Given the description of an element on the screen output the (x, y) to click on. 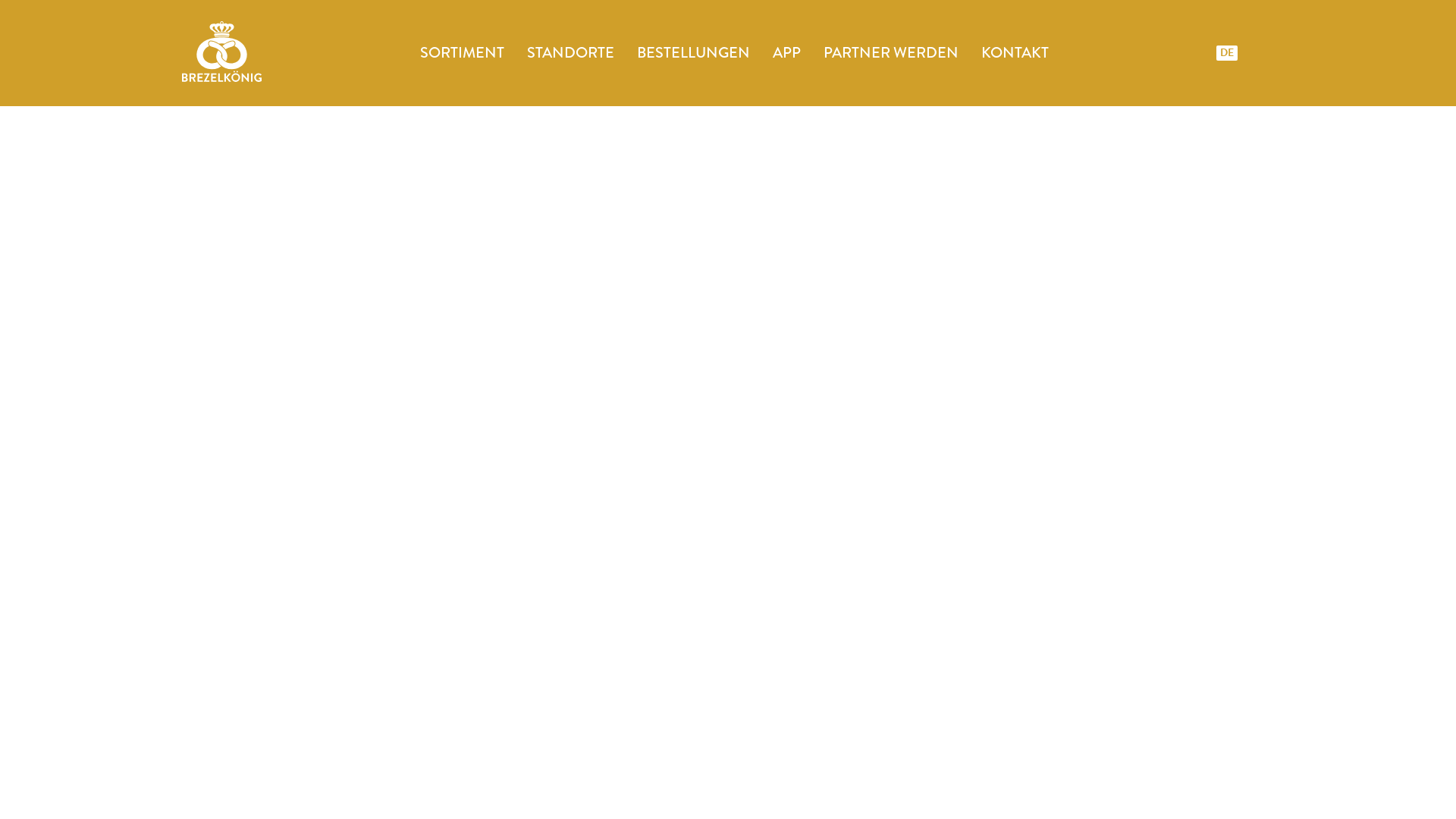
APP Element type: text (786, 52)
PARTNER WERDEN Element type: text (890, 52)
SORTIMENT Element type: text (461, 52)
DE Element type: text (1227, 52)
STANDORTE Element type: text (570, 52)
KONTAKT Element type: text (1014, 52)
BESTELLUNGEN Element type: text (693, 52)
